Given the description of an element on the screen output the (x, y) to click on. 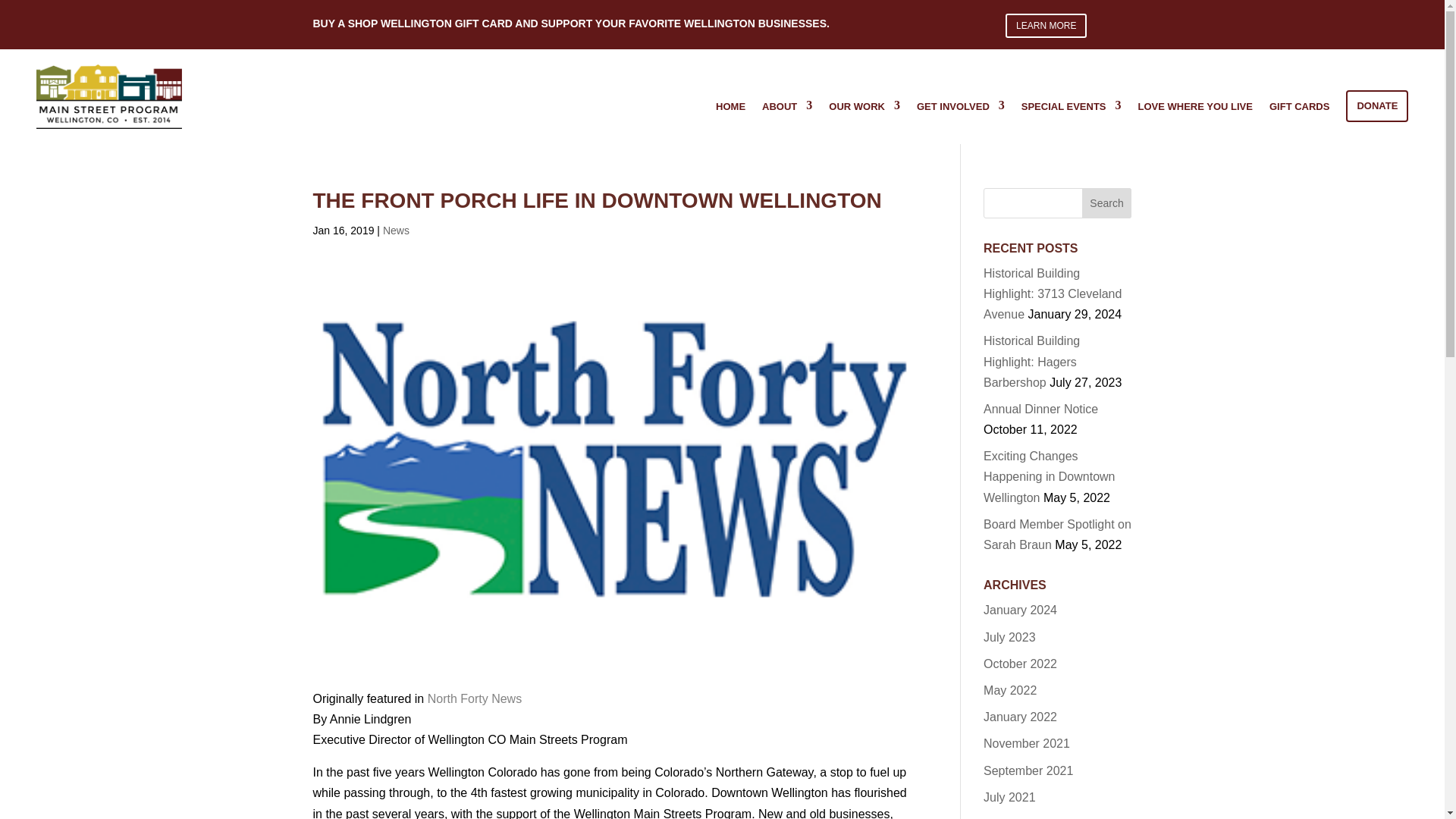
News (395, 230)
Exciting Changes Happening in Downtown Wellington (1049, 476)
HOME (730, 106)
Historical Building Highlight: Hagers Barbershop (1032, 361)
July 2021 (1009, 797)
September 2021 (1028, 770)
Search (1106, 203)
GIFT CARDS (1299, 106)
LEARN MORE (1046, 25)
Board Member Spotlight on Sarah Braun (1057, 534)
